Given the description of an element on the screen output the (x, y) to click on. 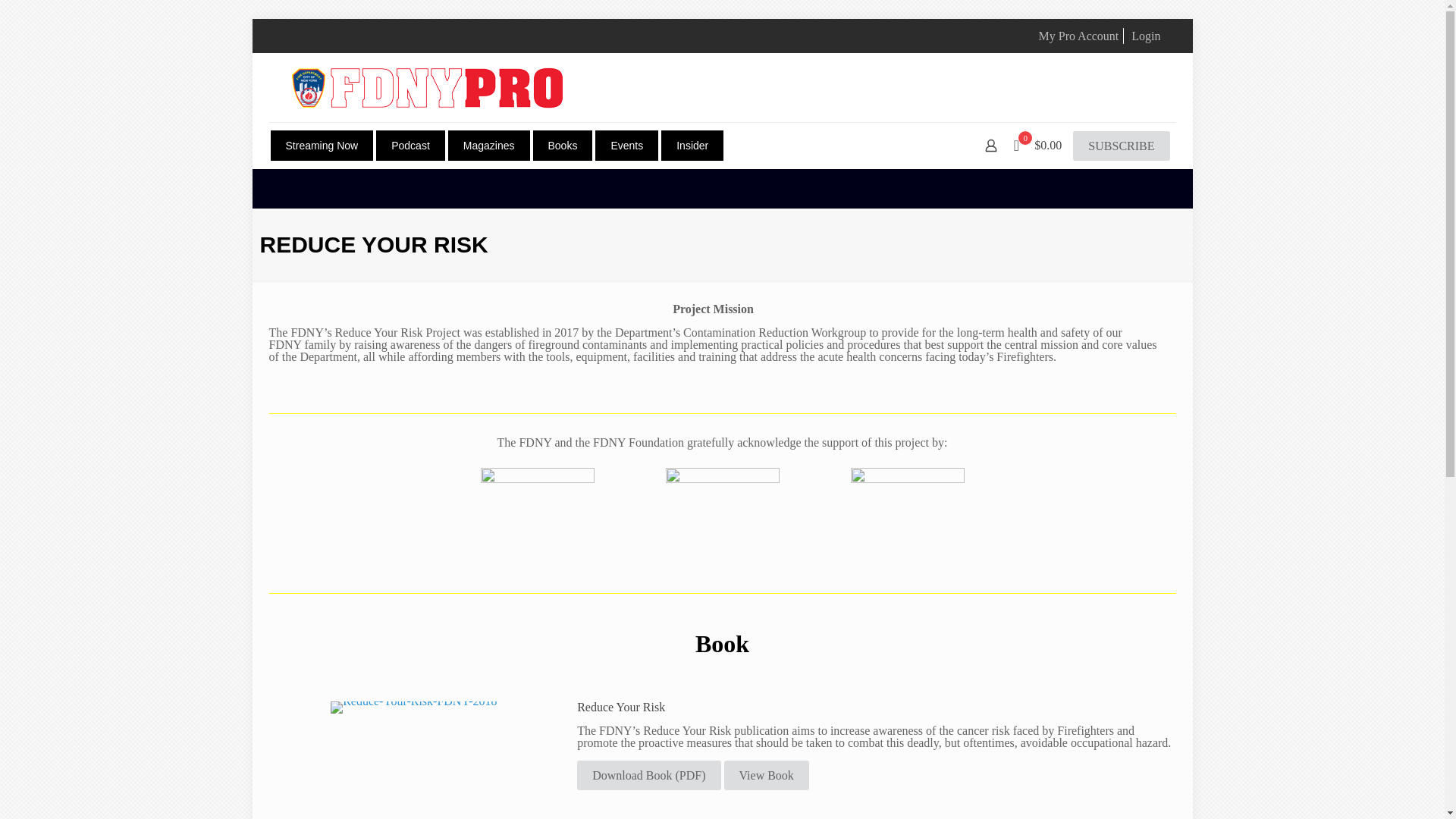
Insider (692, 145)
FDNY Pro (426, 87)
Books (562, 145)
Podcast (410, 145)
Streaming Now (320, 145)
SUBSCRIBE (1121, 145)
Login (1145, 35)
View Book (765, 775)
Events (626, 145)
My Pro Account (1079, 35)
Magazines (488, 145)
